Given the description of an element on the screen output the (x, y) to click on. 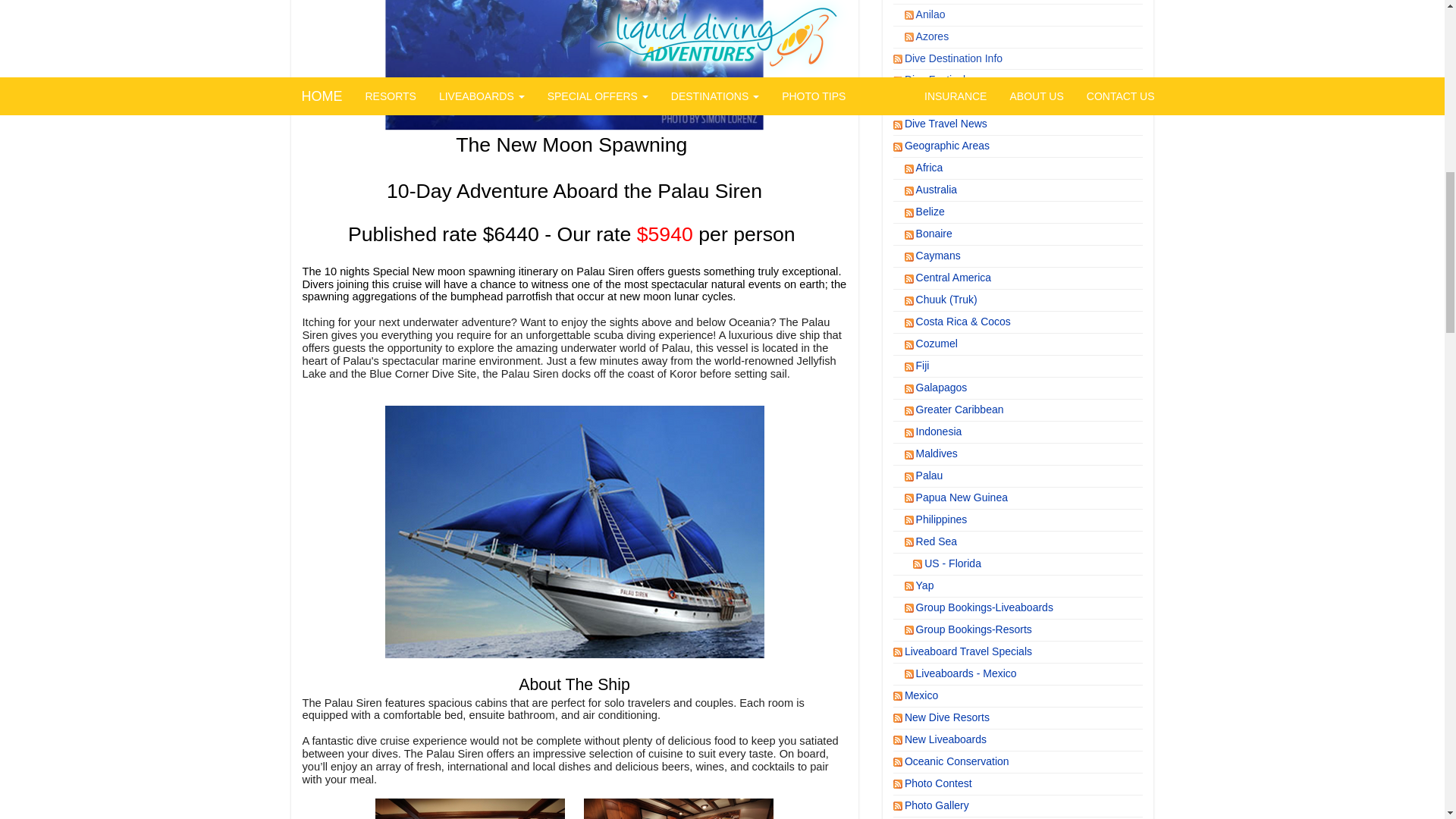
Category: Anilao (931, 14)
Category: Dive Show Specials (952, 101)
Category: Dive Destination Info (954, 57)
Category: Dive Travel News (947, 123)
Category: Azores (933, 36)
Category: Dive Festivals (938, 79)
